Given the description of an element on the screen output the (x, y) to click on. 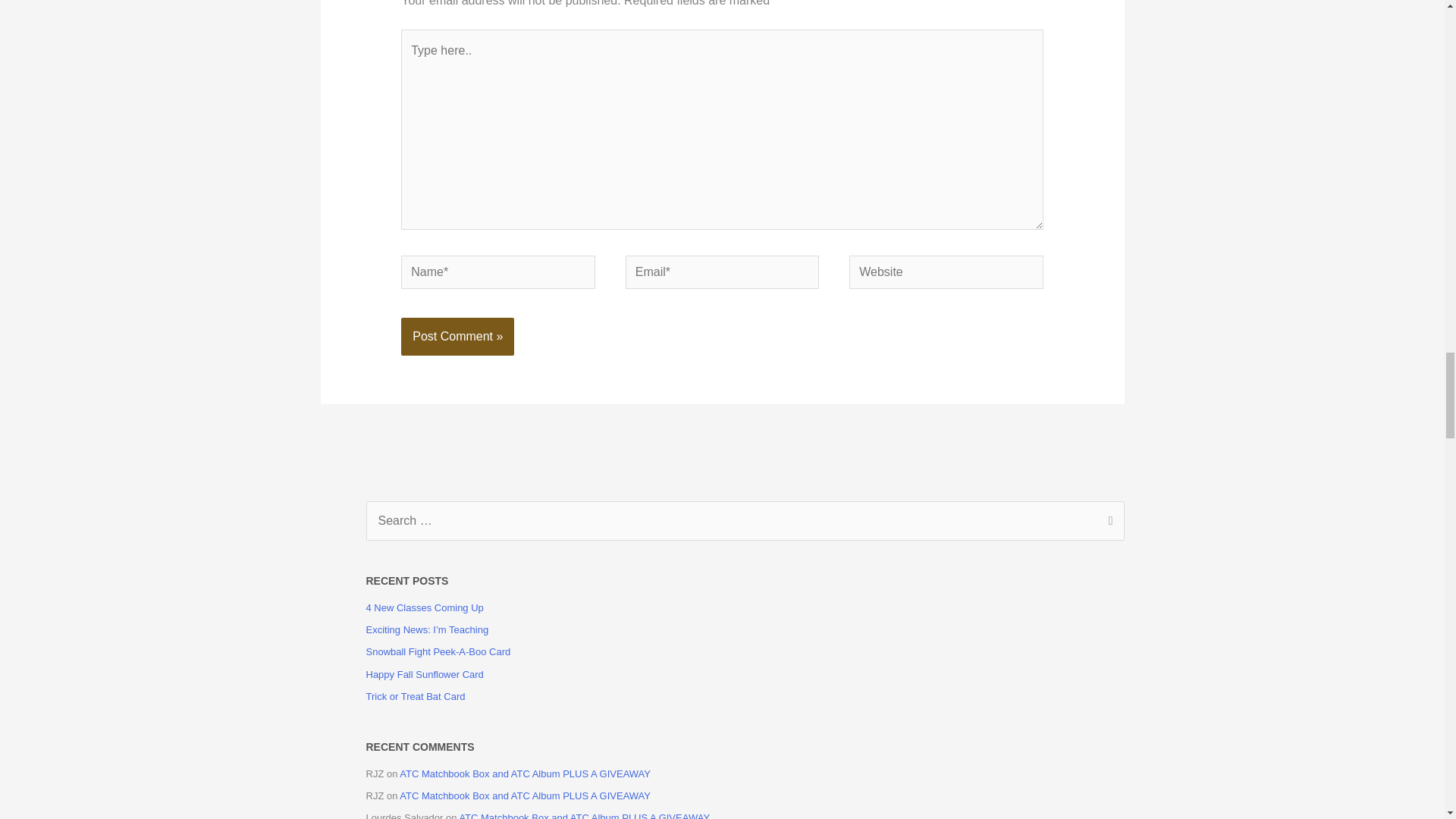
ATC Matchbook Box and ATC Album PLUS A GIVEAWAY (524, 795)
Search (1107, 522)
4 New Classes Coming Up (424, 607)
Trick or Treat Bat Card (414, 696)
Search (1107, 522)
Snowball Fight Peek-A-Boo Card (438, 651)
ATC Matchbook Box and ATC Album PLUS A GIVEAWAY (524, 773)
ATC Matchbook Box and ATC Album PLUS A GIVEAWAY (584, 815)
Happy Fall Sunflower Card (424, 674)
Search (1107, 522)
